Given the description of an element on the screen output the (x, y) to click on. 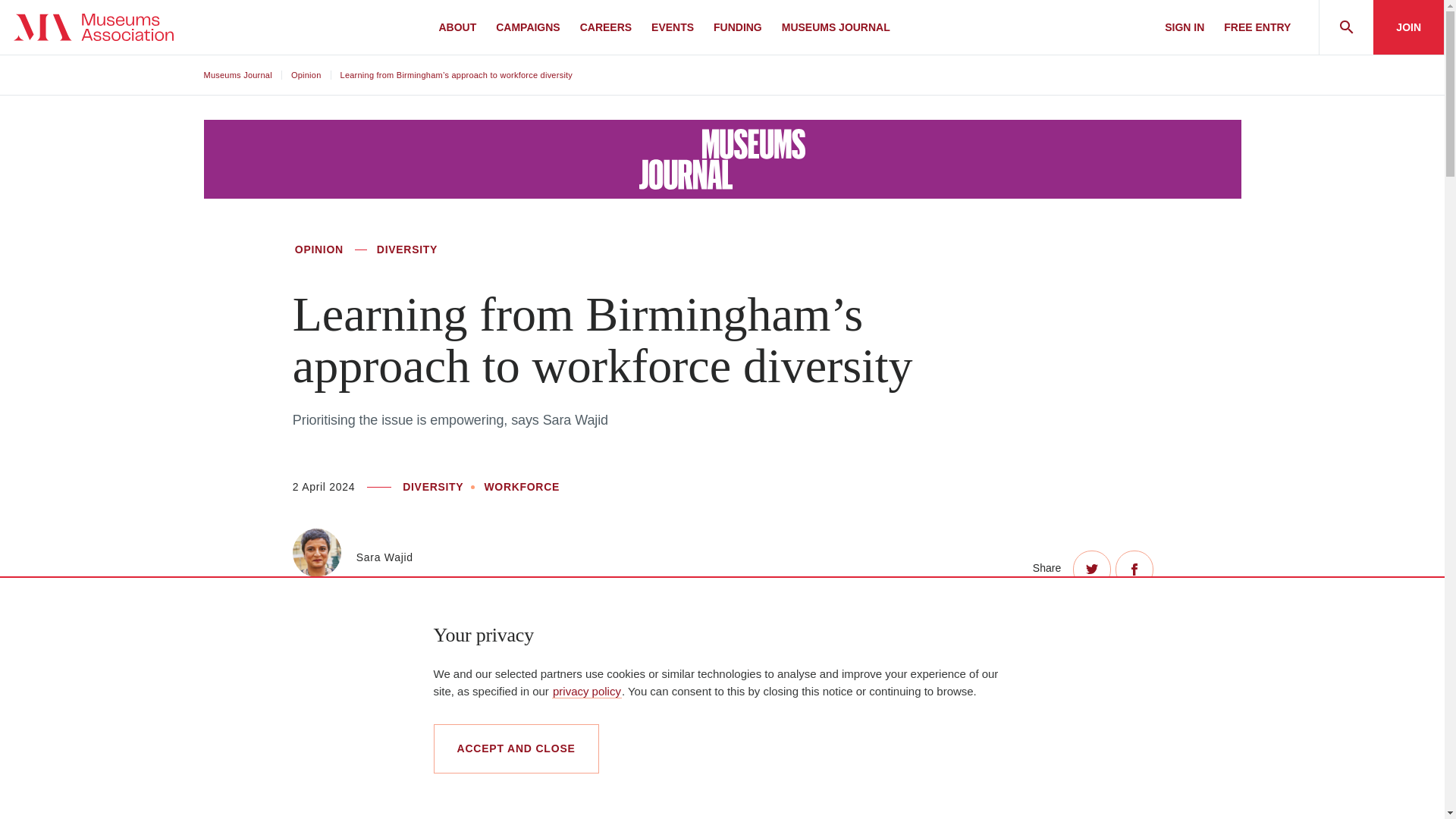
CAMPAIGNS (527, 27)
Privacy Policy (586, 690)
CAREERS (605, 27)
